Given the description of an element on the screen output the (x, y) to click on. 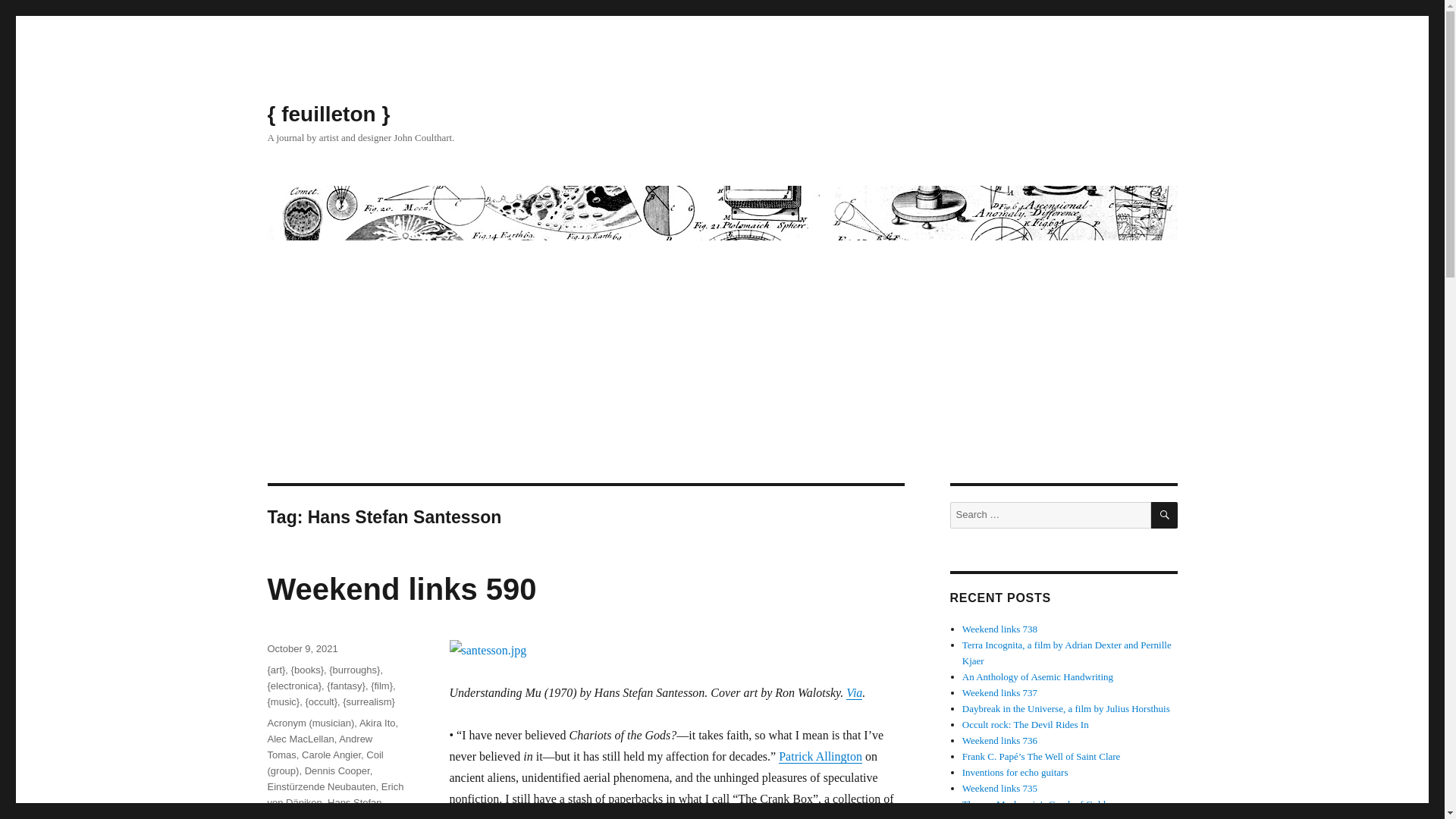
Dennis Cooper (336, 770)
Weekend links 590 (400, 589)
October 9, 2021 (301, 648)
Andrew Tomas (319, 746)
Via (853, 692)
Patrick Allington (819, 756)
Carole Angier (331, 754)
Alec MacLellan (299, 738)
Akira Ito (377, 722)
